Given the description of an element on the screen output the (x, y) to click on. 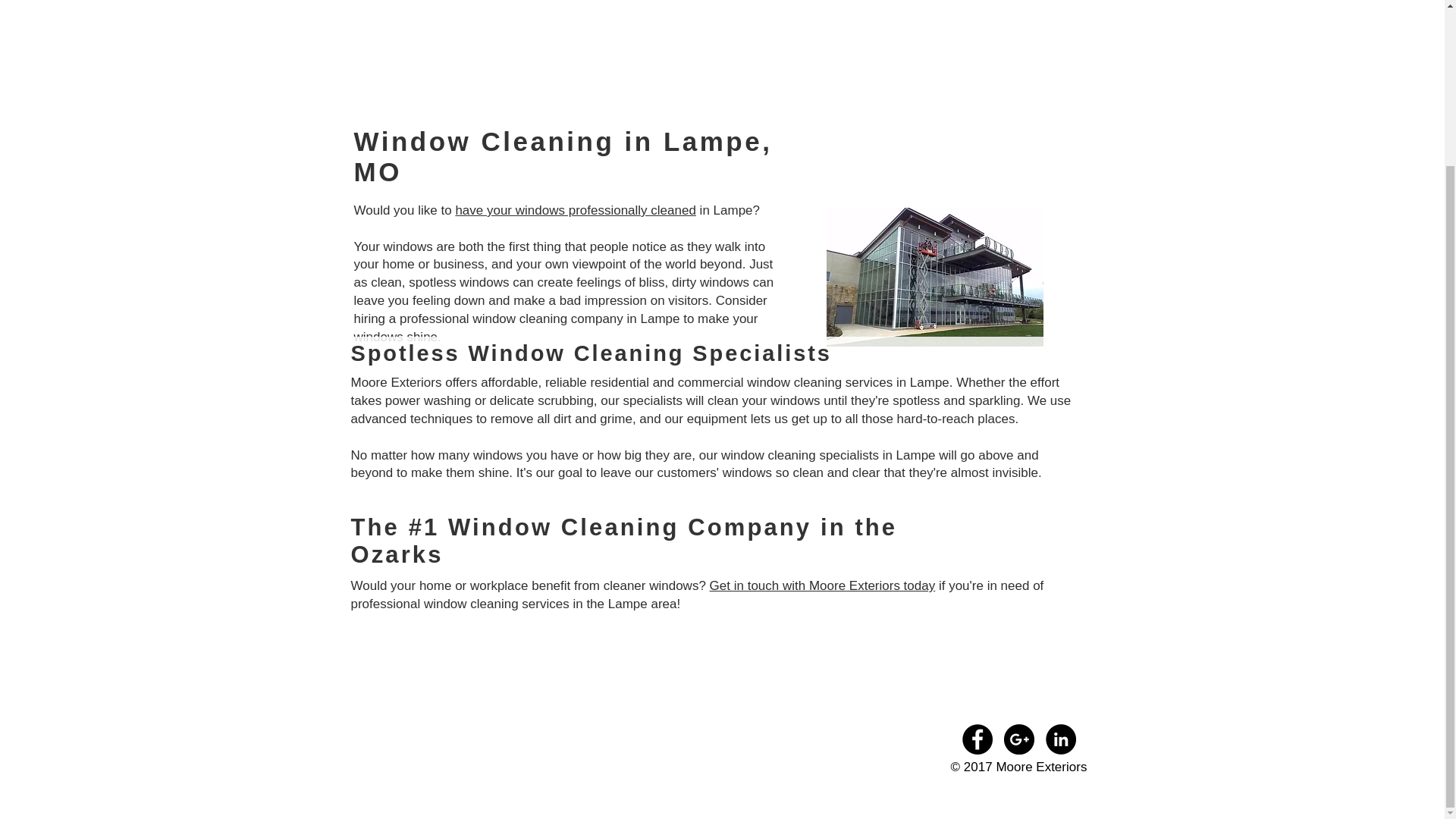
Get in touch with Moore Exteriors today (823, 585)
have your windows professionally cleaned (574, 210)
